Given the description of an element on the screen output the (x, y) to click on. 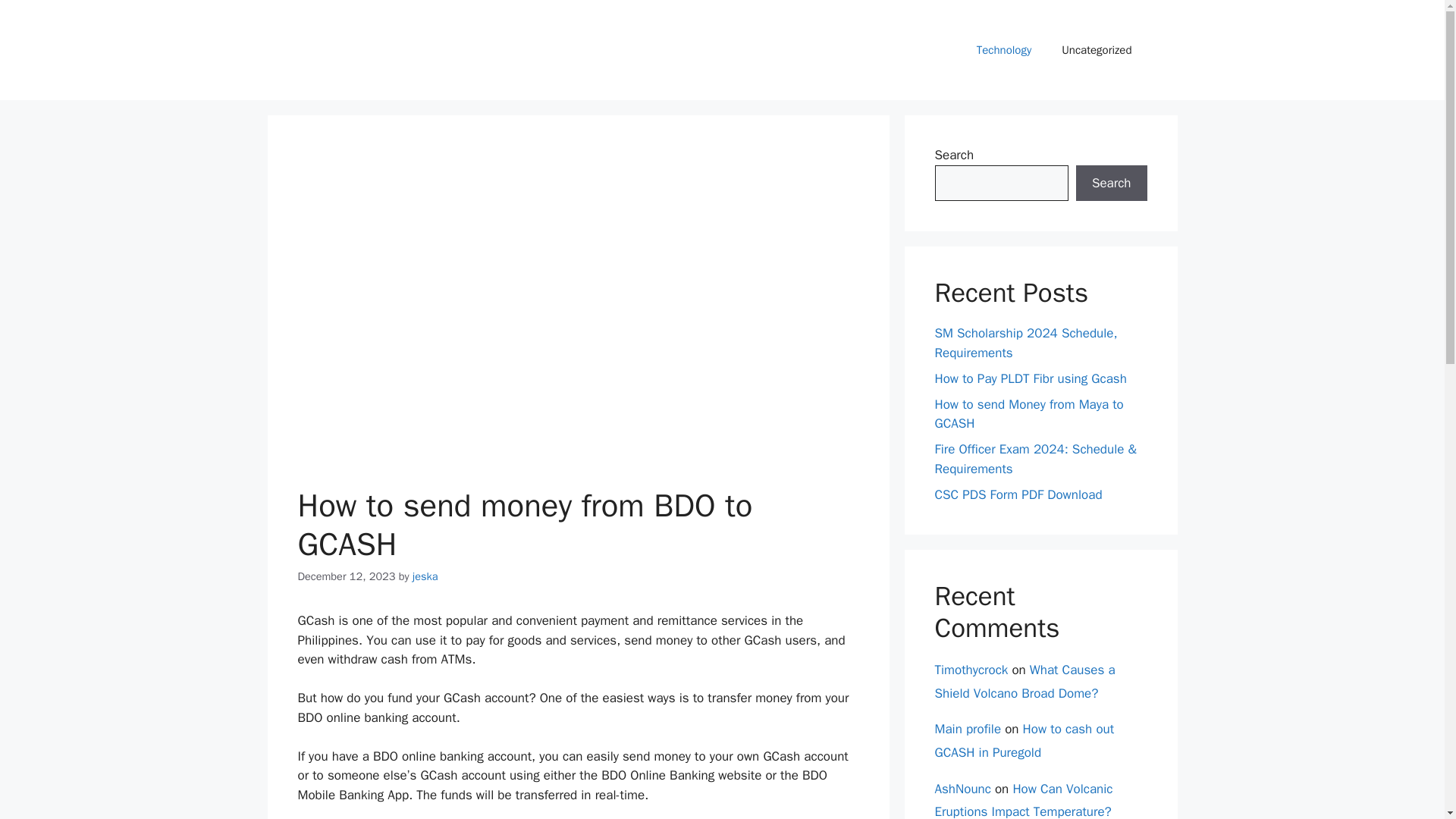
How to cash out GCASH in Puregold (1023, 740)
How to send Money from Maya to GCASH (1028, 414)
How to Pay PLDT Fibr using Gcash (1029, 378)
SM Scholarship 2024 Schedule, Requirements (1025, 343)
View all posts by jeska (425, 576)
Timothycrock (970, 669)
Uncategorized (1096, 49)
jeska (425, 576)
Main profile (967, 729)
How Can Volcanic Eruptions Impact Temperature? (1023, 800)
